Given the description of an element on the screen output the (x, y) to click on. 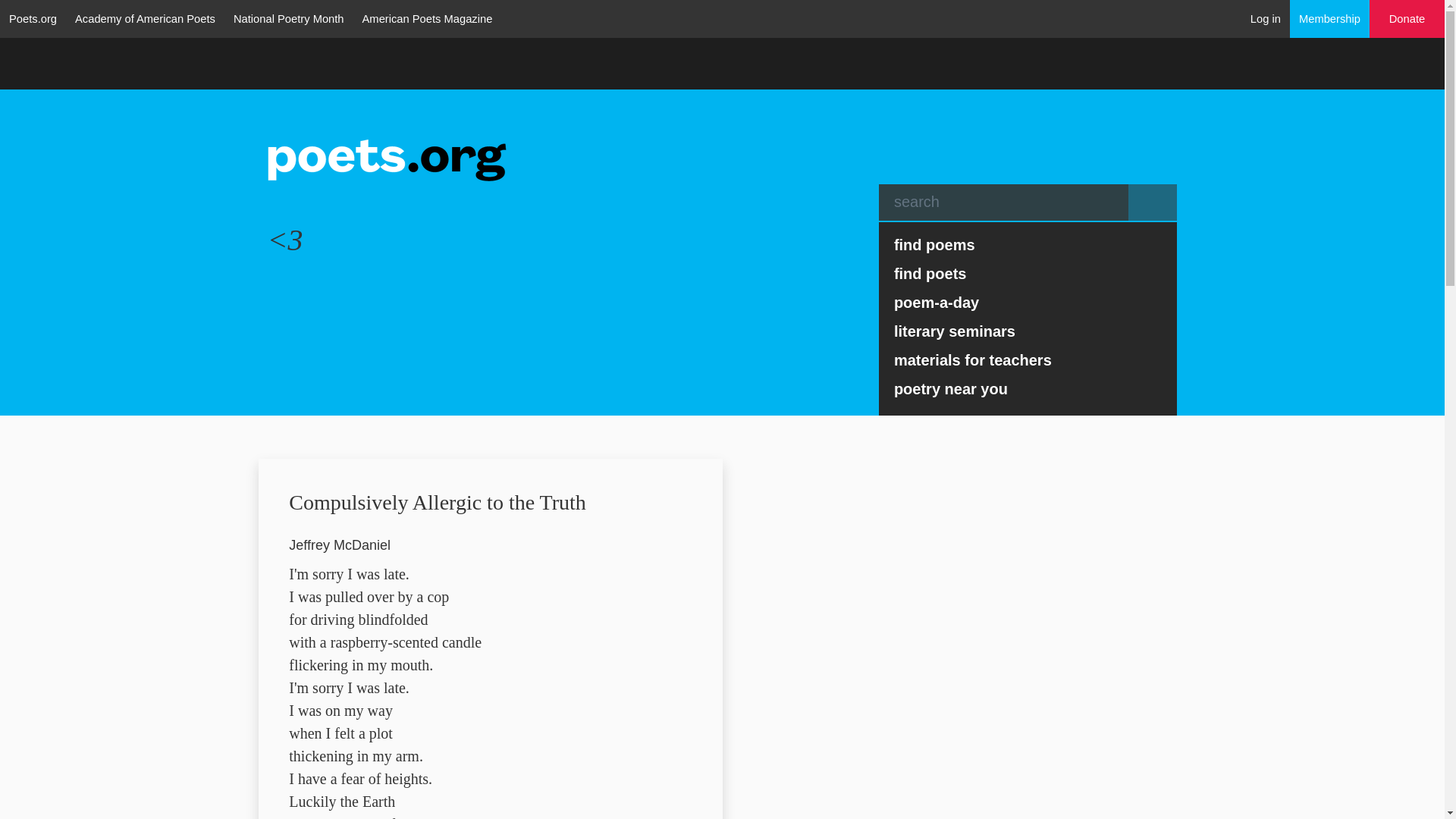
Submit (1152, 201)
materials for teachers (1028, 359)
poem-a-day (1028, 302)
poetry near you (1028, 388)
Membership (1330, 18)
National Poetry Month (288, 18)
Academy of American Poets (144, 18)
literary seminars (1028, 330)
find poets (1028, 273)
Become a member of the Academy of American Poets (1330, 18)
literary seminars (1028, 330)
Jeffrey McDaniel (339, 545)
poetry near you (1028, 388)
Poets.org (32, 18)
poem-a-day (1028, 302)
